Given the description of an element on the screen output the (x, y) to click on. 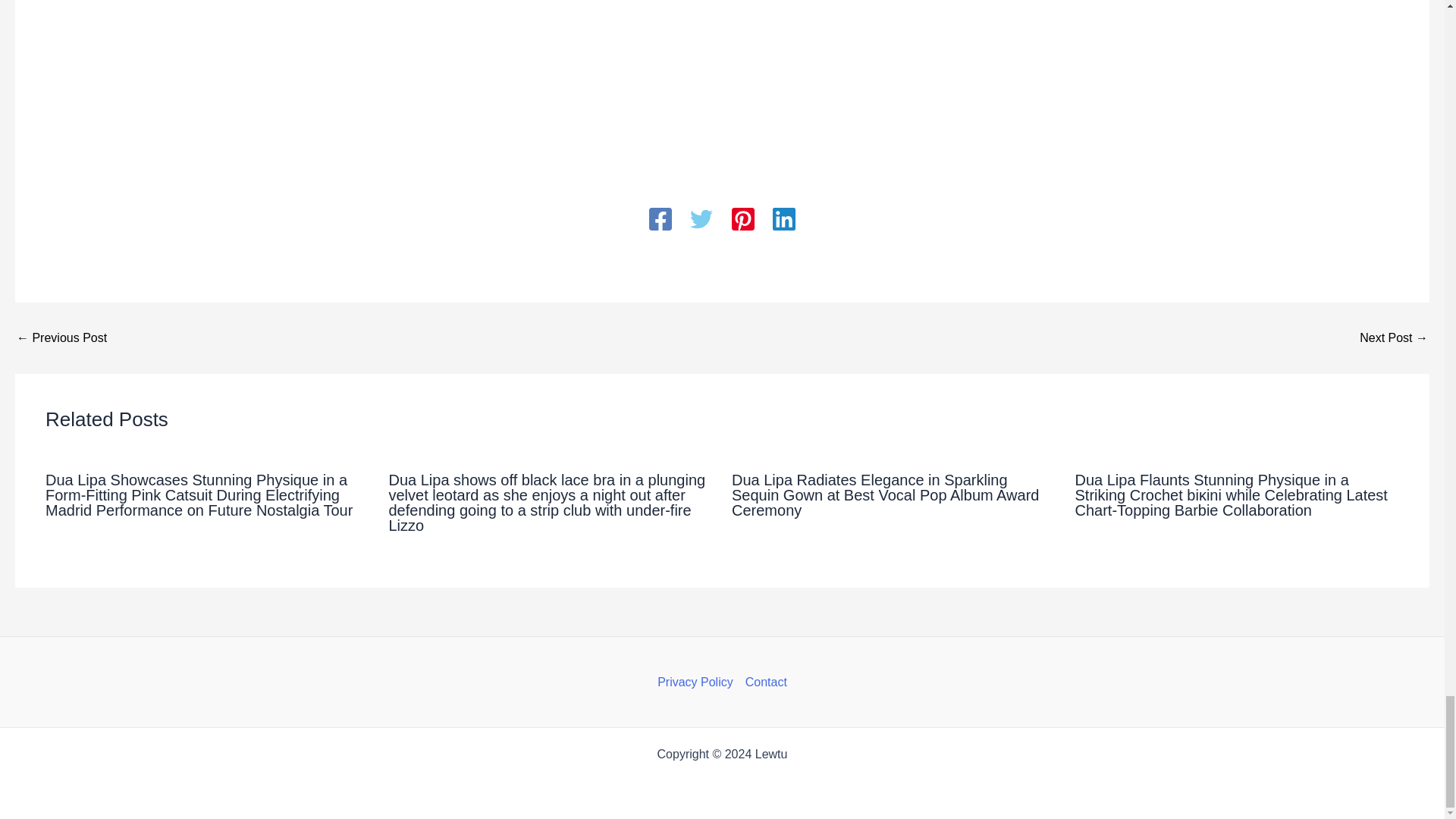
Privacy Policy (698, 681)
Contact (763, 681)
